Given the description of an element on the screen output the (x, y) to click on. 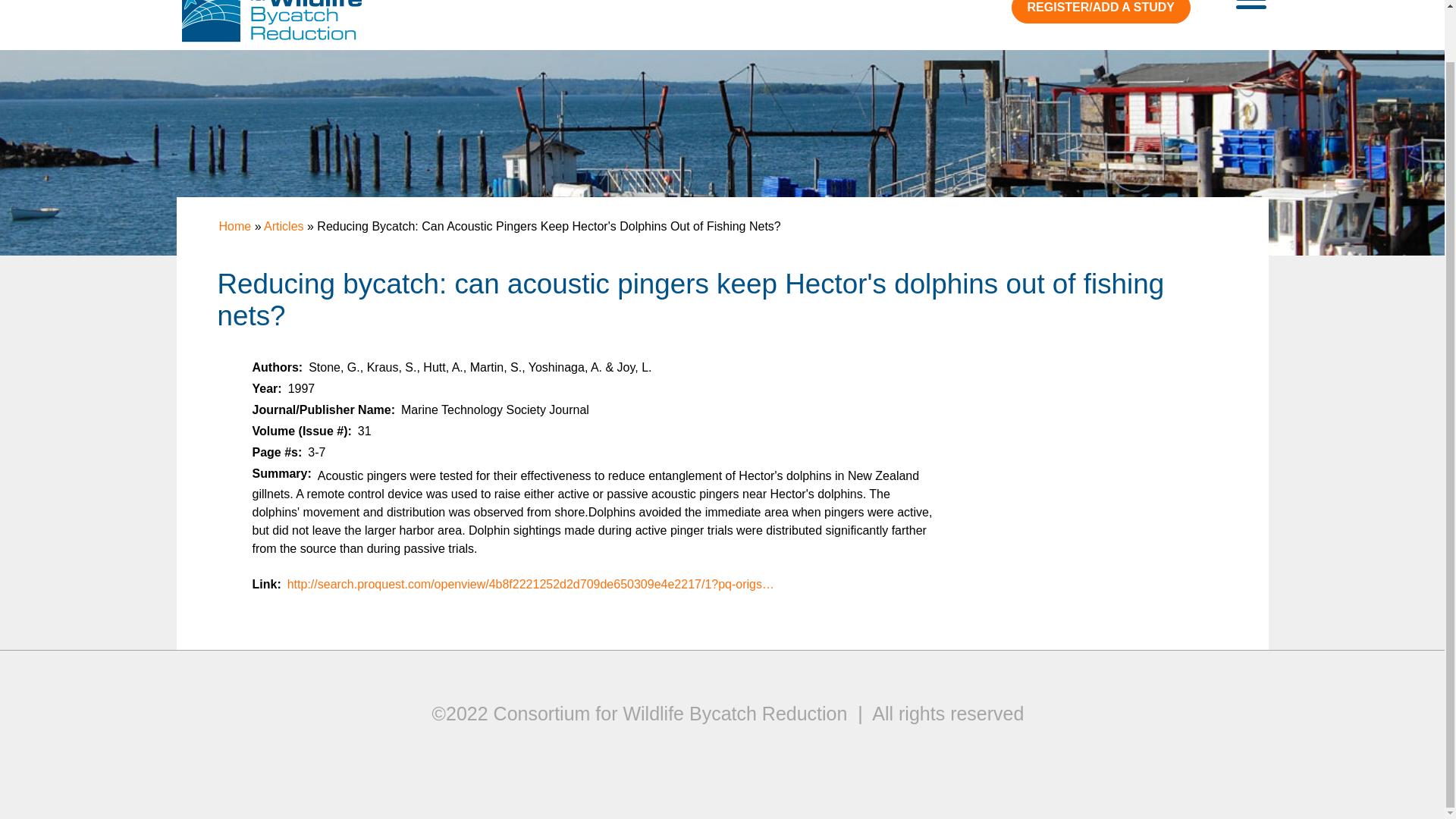
Instructions for Adding an Article Study (1101, 11)
Menu (1251, 7)
MENU (1251, 7)
